Given the description of an element on the screen output the (x, y) to click on. 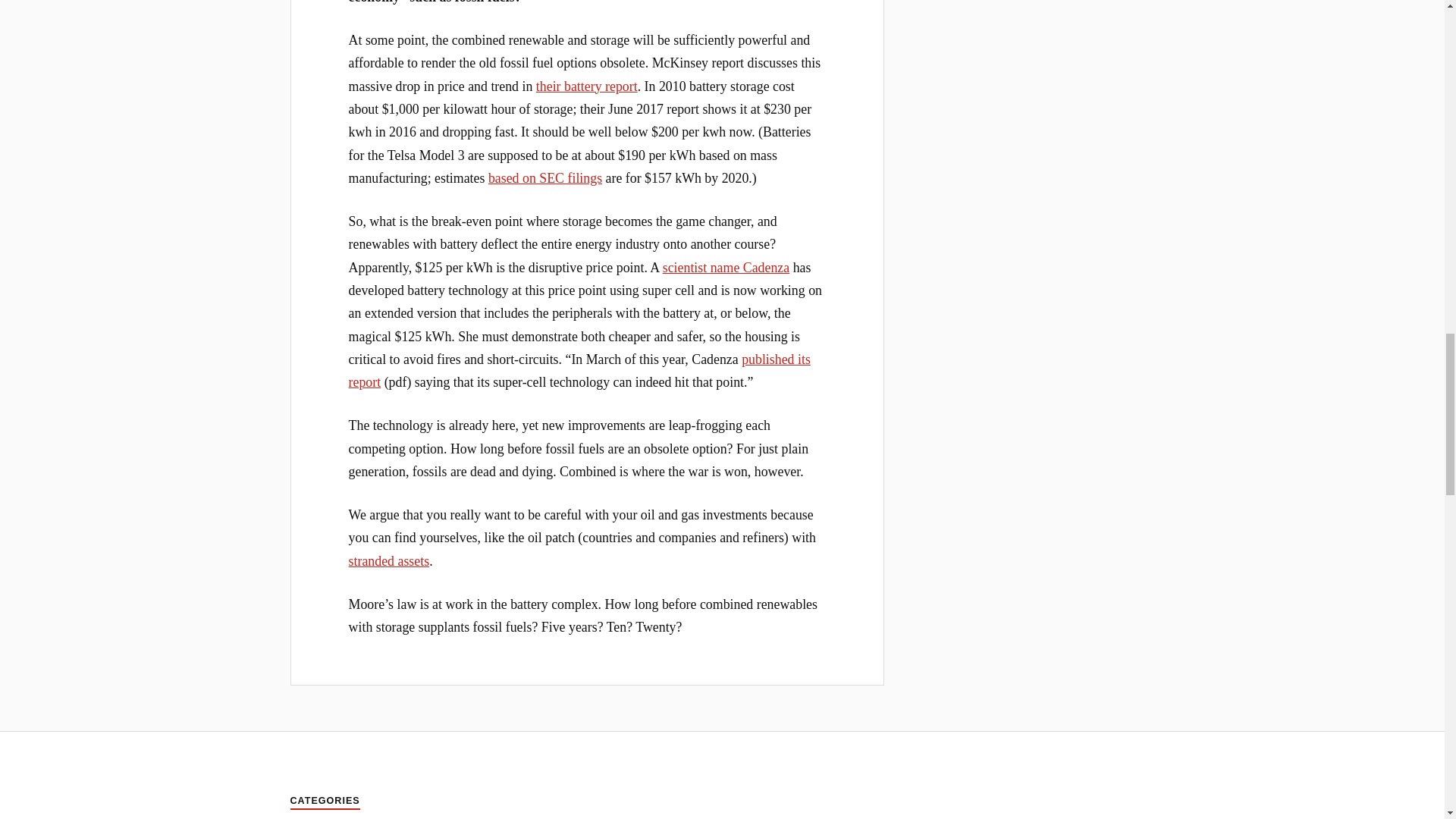
stranded assets (389, 560)
their battery report (586, 86)
based on SEC filings (544, 177)
scientist name Cadenza (725, 267)
published its report (579, 370)
